Given the description of an element on the screen output the (x, y) to click on. 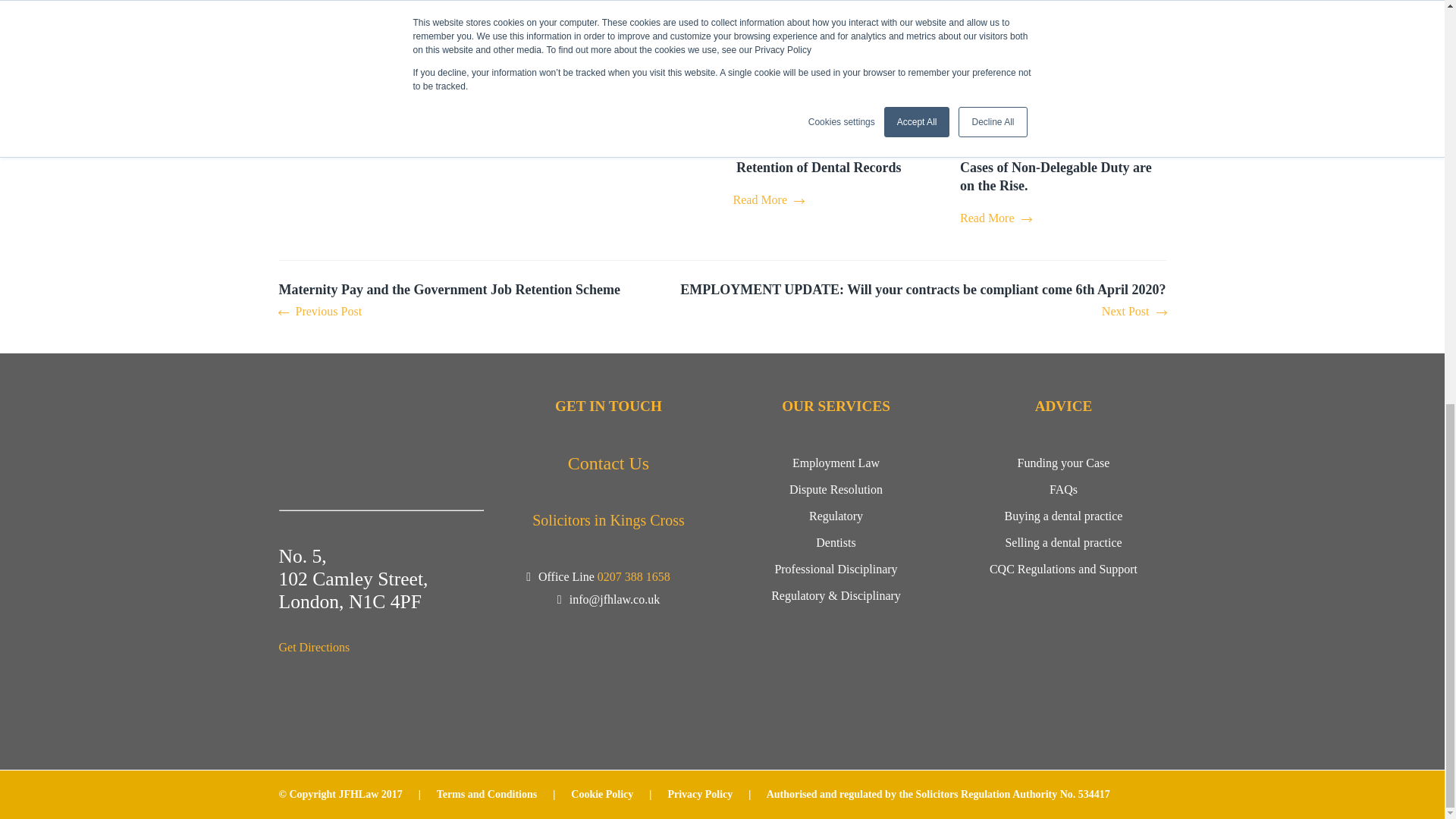
SRA Badge (608, 694)
Maternity Pay and the Government Job Retention Scheme (449, 301)
